Given the description of an element on the screen output the (x, y) to click on. 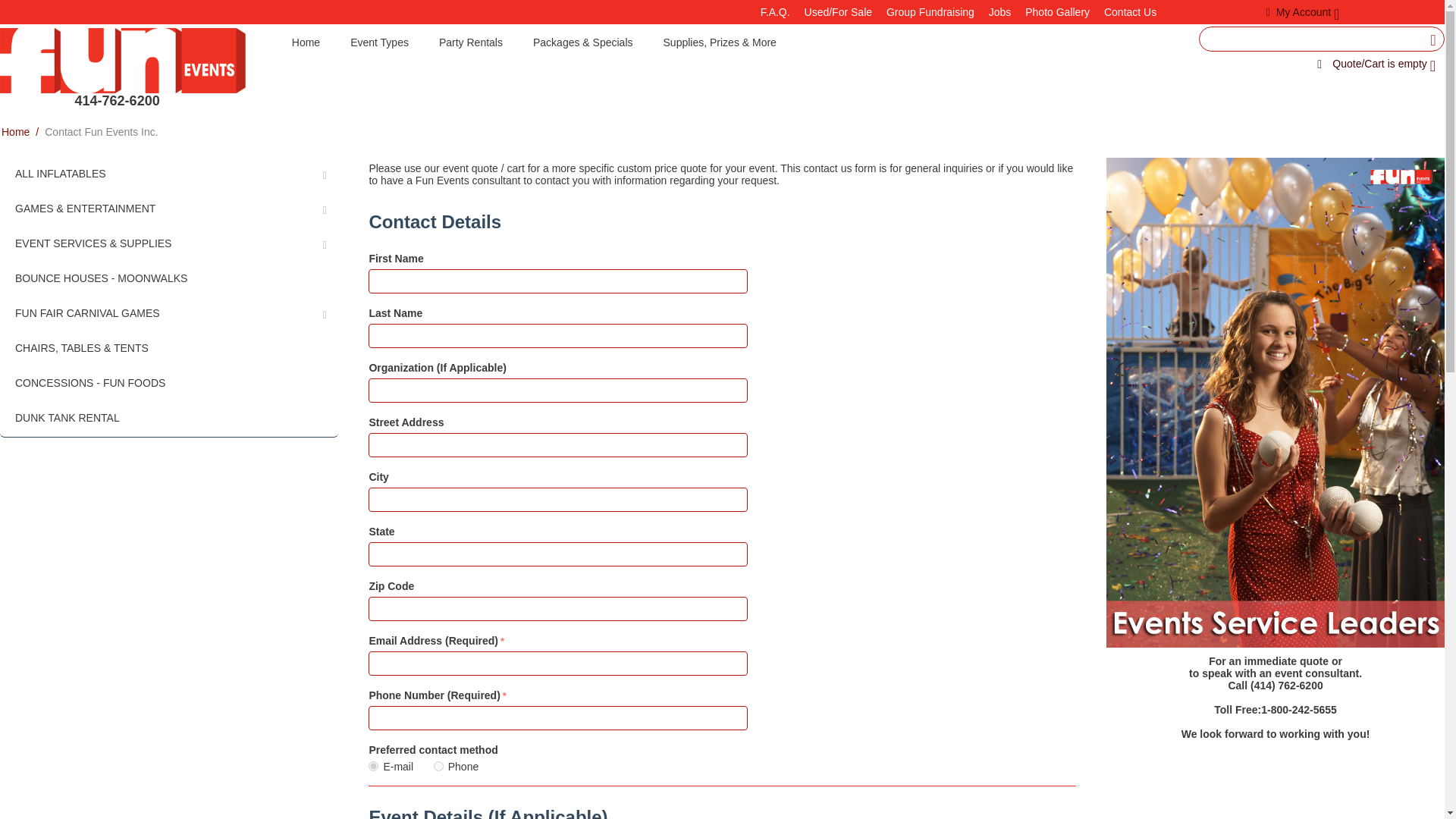
F.A.Q. (775, 11)
Photo Gallery (1057, 11)
Home (305, 43)
Event Types (378, 43)
Party Rentals (470, 43)
Jobs (999, 11)
Fun Events - Oak Creek Wisconsin (123, 60)
Group Fundraising (930, 11)
Contact Us (1129, 11)
169 (438, 766)
